Given the description of an element on the screen output the (x, y) to click on. 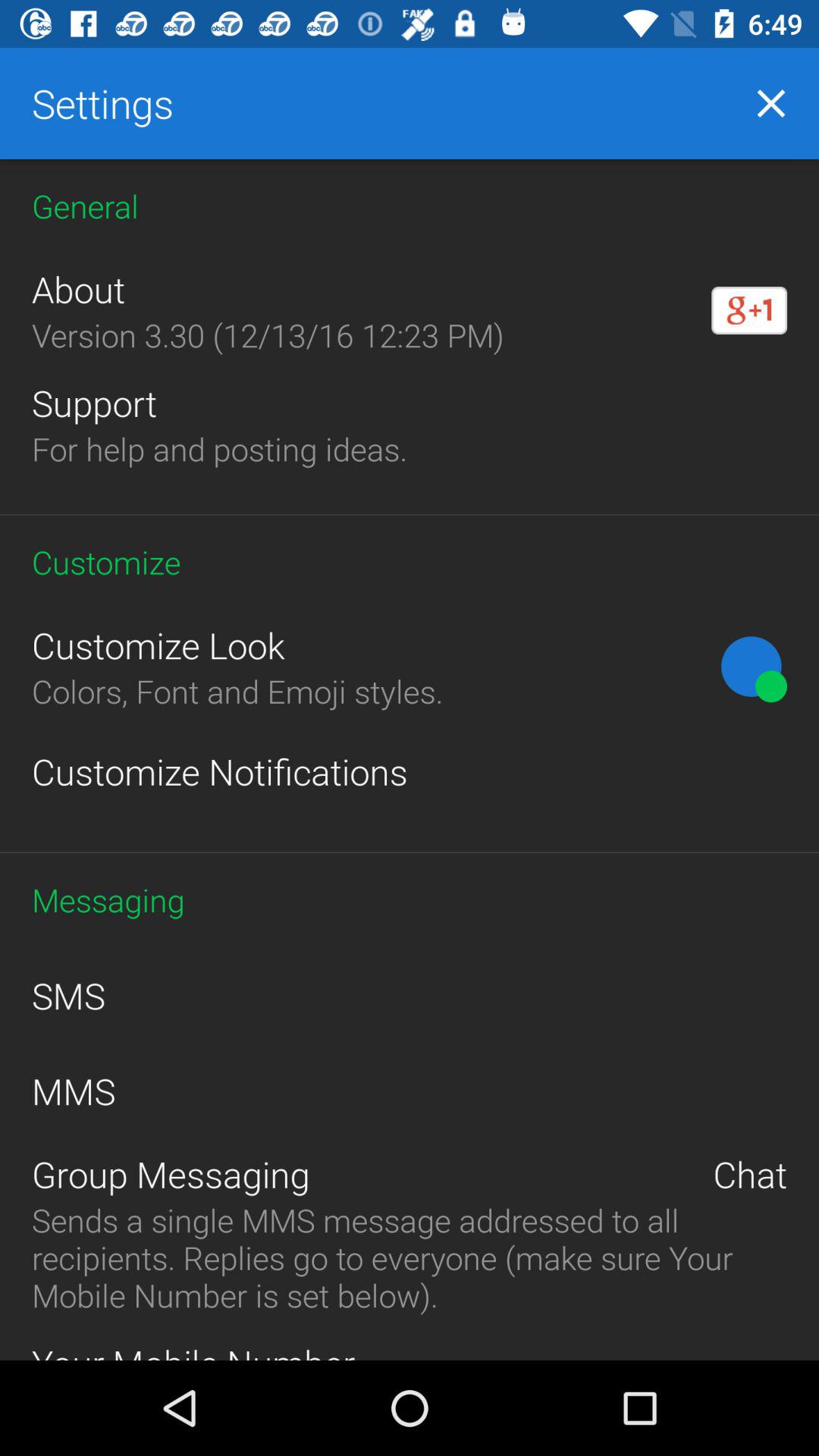
click icon to the right of the settings icon (771, 103)
